Given the description of an element on the screen output the (x, y) to click on. 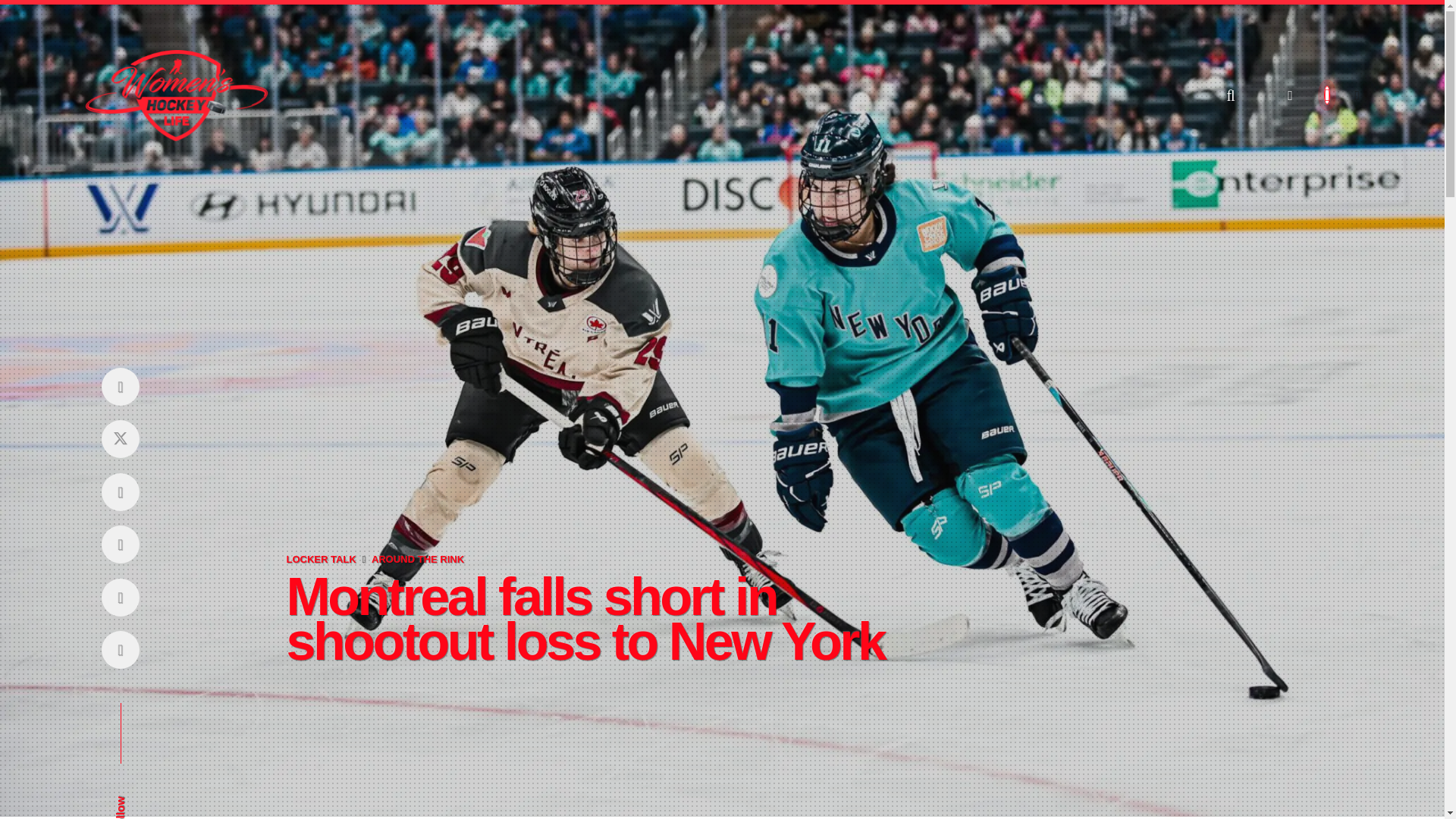
TikTok (119, 650)
Twitter (119, 438)
LOCKER TALK (320, 559)
LinkedIn (119, 596)
YouTube (119, 543)
Facebook (119, 385)
Instagram (119, 491)
AROUND THE RINK (417, 559)
